Given the description of an element on the screen output the (x, y) to click on. 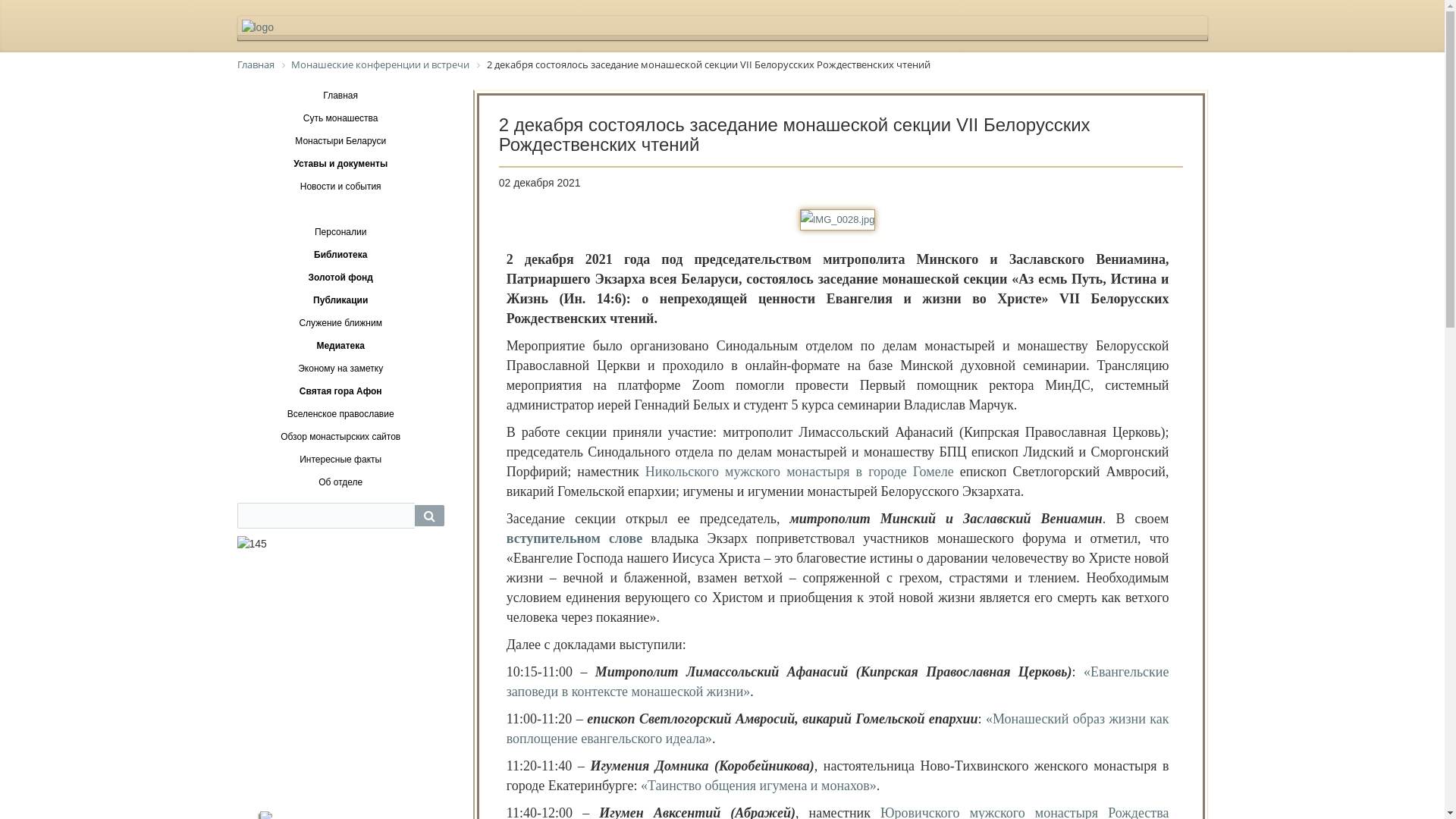
logo Element type: hover (721, 26)
145 Element type: hover (339, 657)
